Given the description of an element on the screen output the (x, y) to click on. 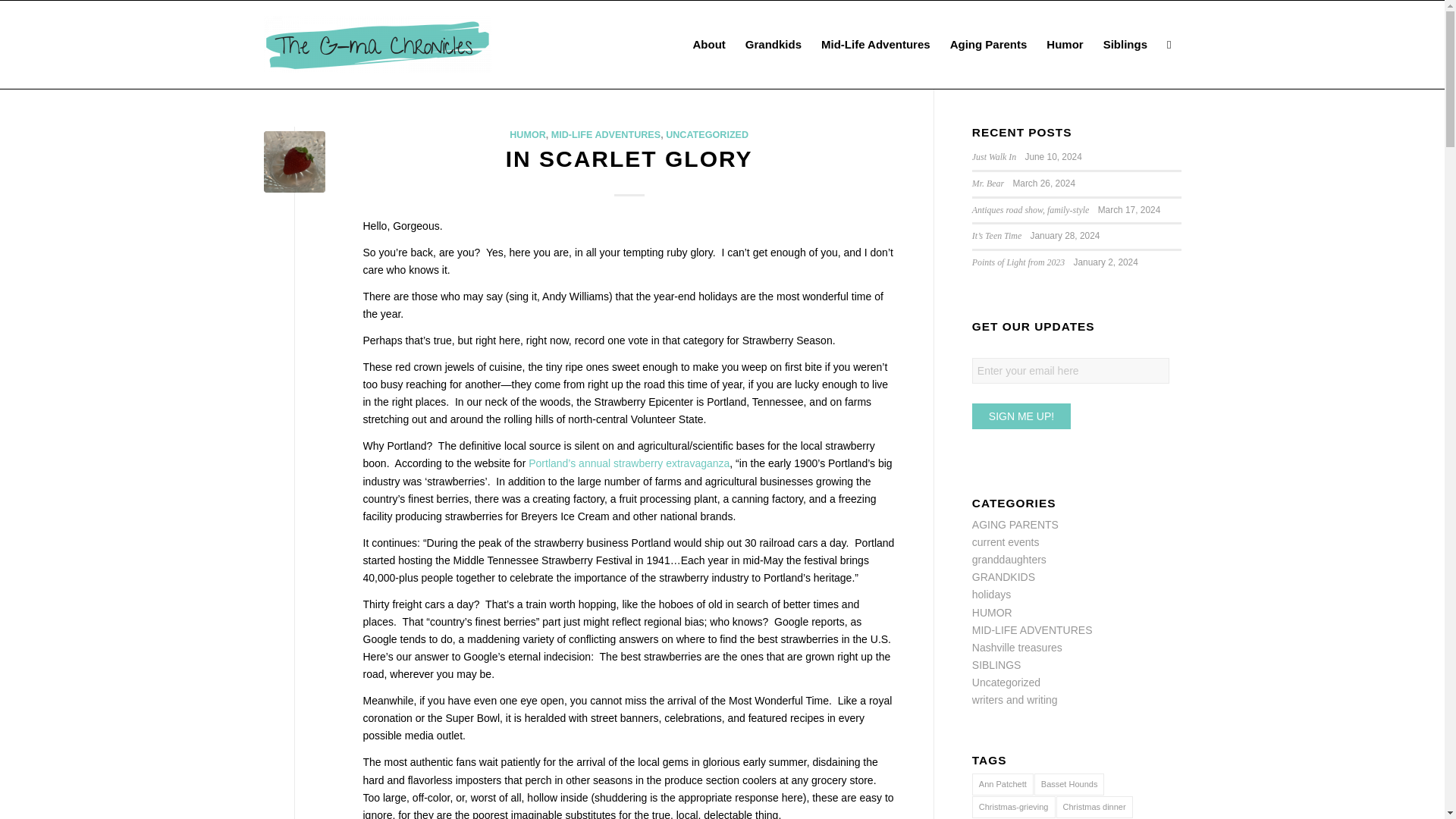
MID-LIFE ADVENTURES (606, 134)
GRANDKIDS (1003, 576)
HUMOR (527, 134)
holidays (991, 594)
IN SCARLET GLORY (628, 158)
granddaughters (1009, 559)
Mid-Life Adventures (875, 44)
HUMOR (991, 612)
Points of Light from 2023 (1018, 262)
Permanent Link: In Scarlet Glory (628, 158)
